Given the description of an element on the screen output the (x, y) to click on. 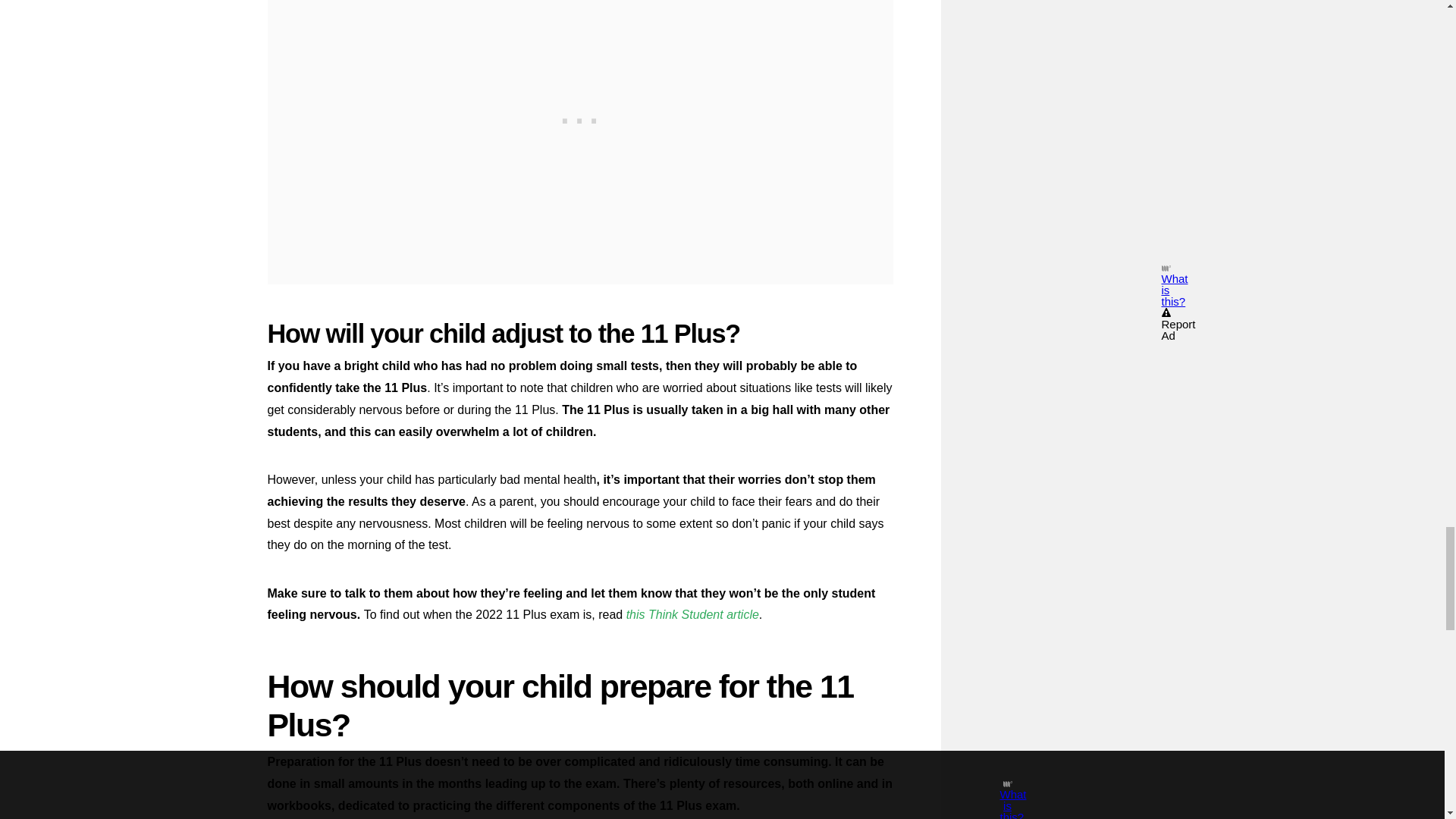
this Think Student article (692, 614)
